Given the description of an element on the screen output the (x, y) to click on. 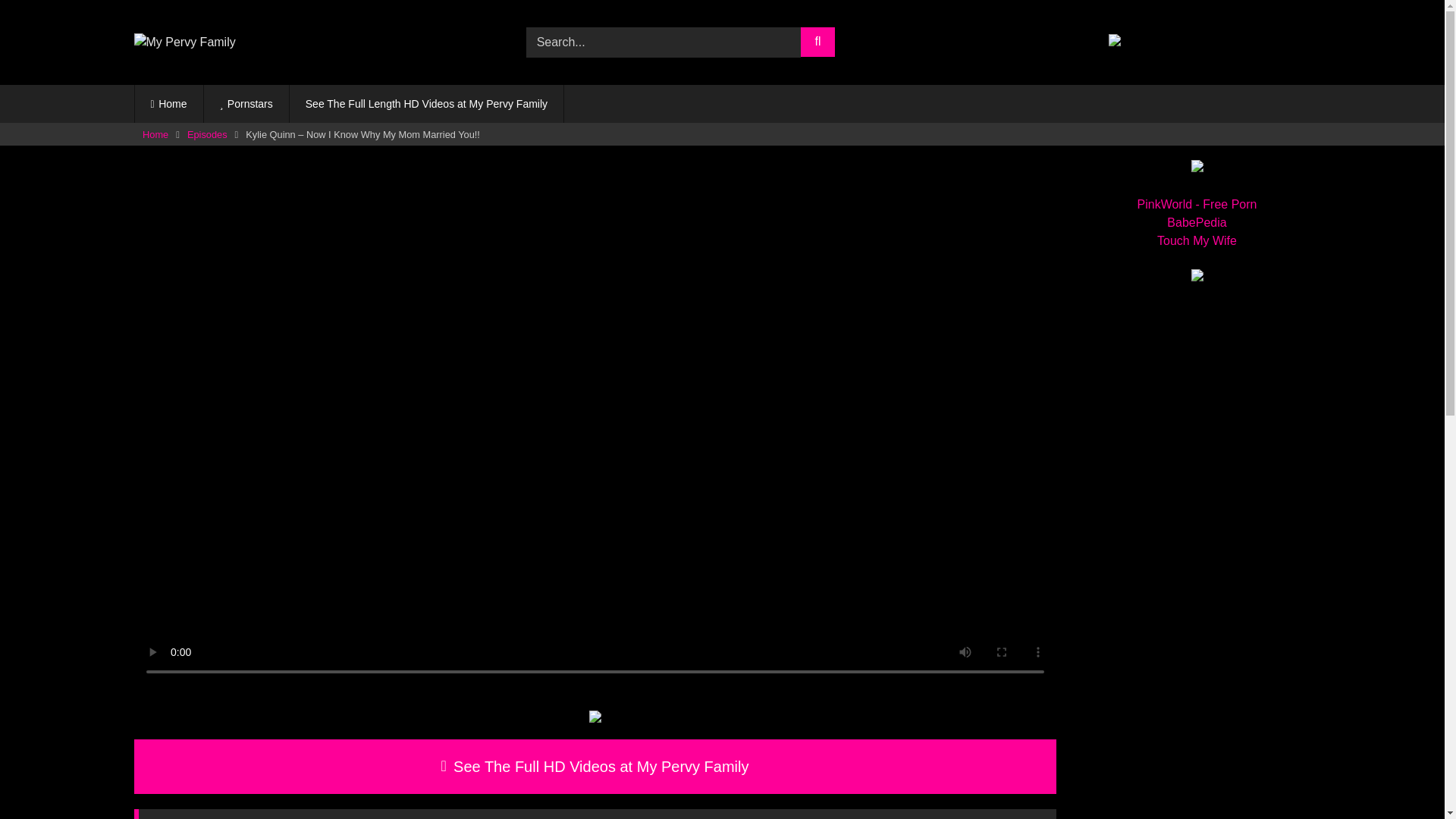
BabePedia (1196, 222)
See The Full Length HD Videos at My Pervy Family (426, 103)
Episodes (207, 134)
See The Full HD Videos at My Pervy Family (594, 766)
Search... (662, 42)
Touch My Wife (1196, 240)
My Pervy Family (183, 42)
Home (169, 103)
Pornstars (245, 103)
Home (155, 134)
